Given the description of an element on the screen output the (x, y) to click on. 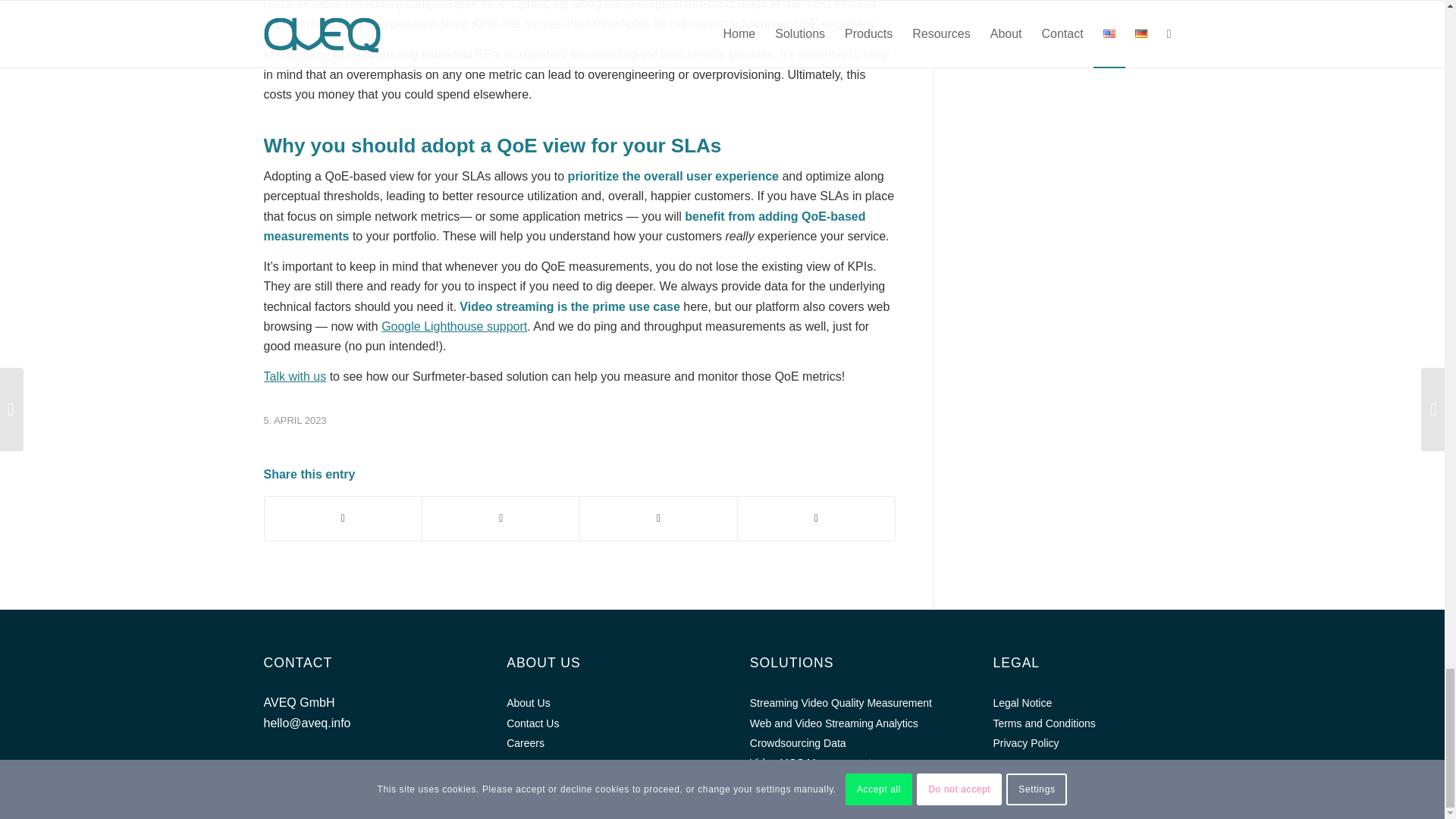
Talk with us (294, 376)
Careers (600, 742)
Contact Us (600, 723)
Google Lighthouse support (454, 326)
About Us (600, 702)
